Given the description of an element on the screen output the (x, y) to click on. 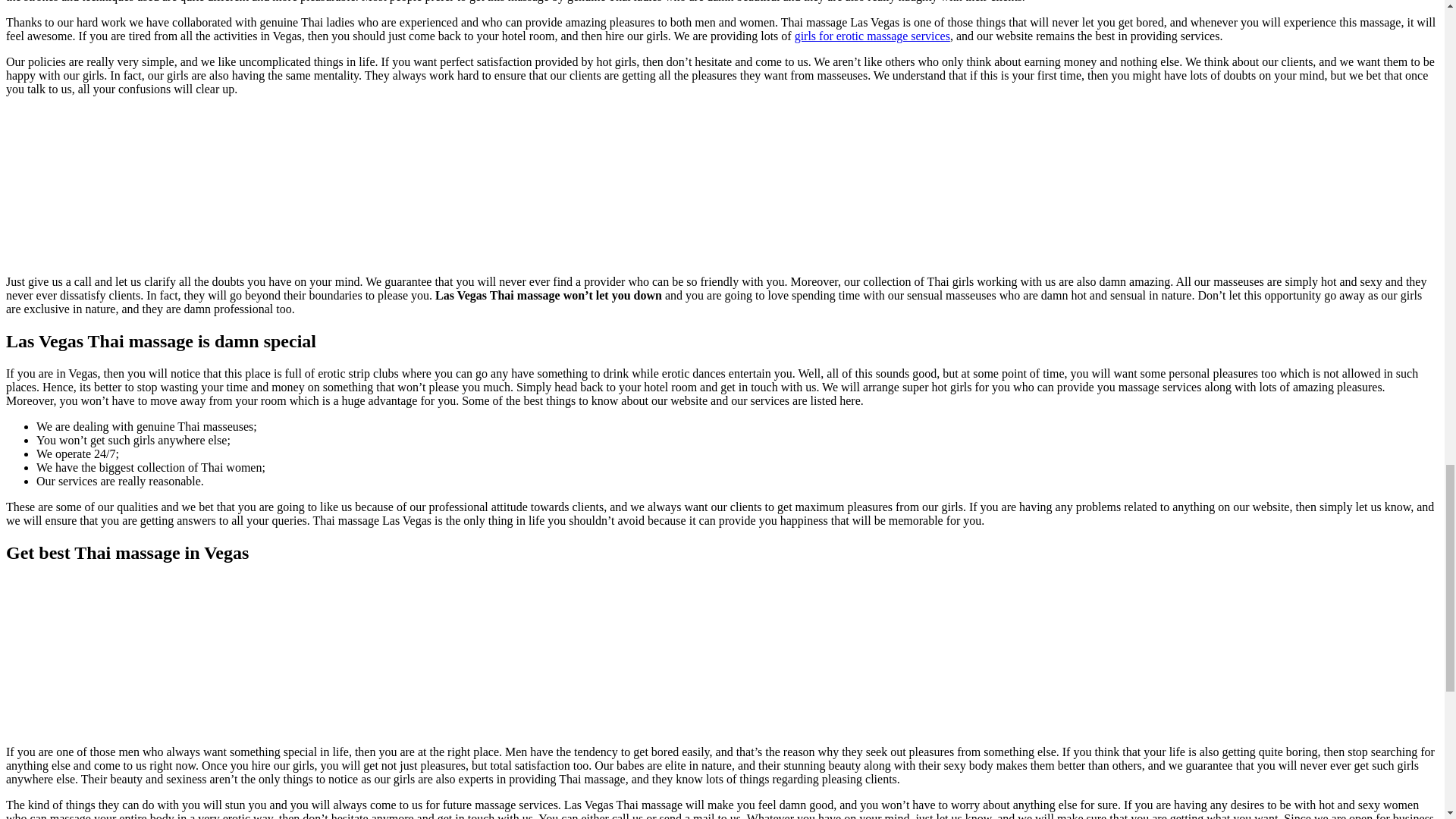
girls for erotic massage services (872, 35)
